Given the description of an element on the screen output the (x, y) to click on. 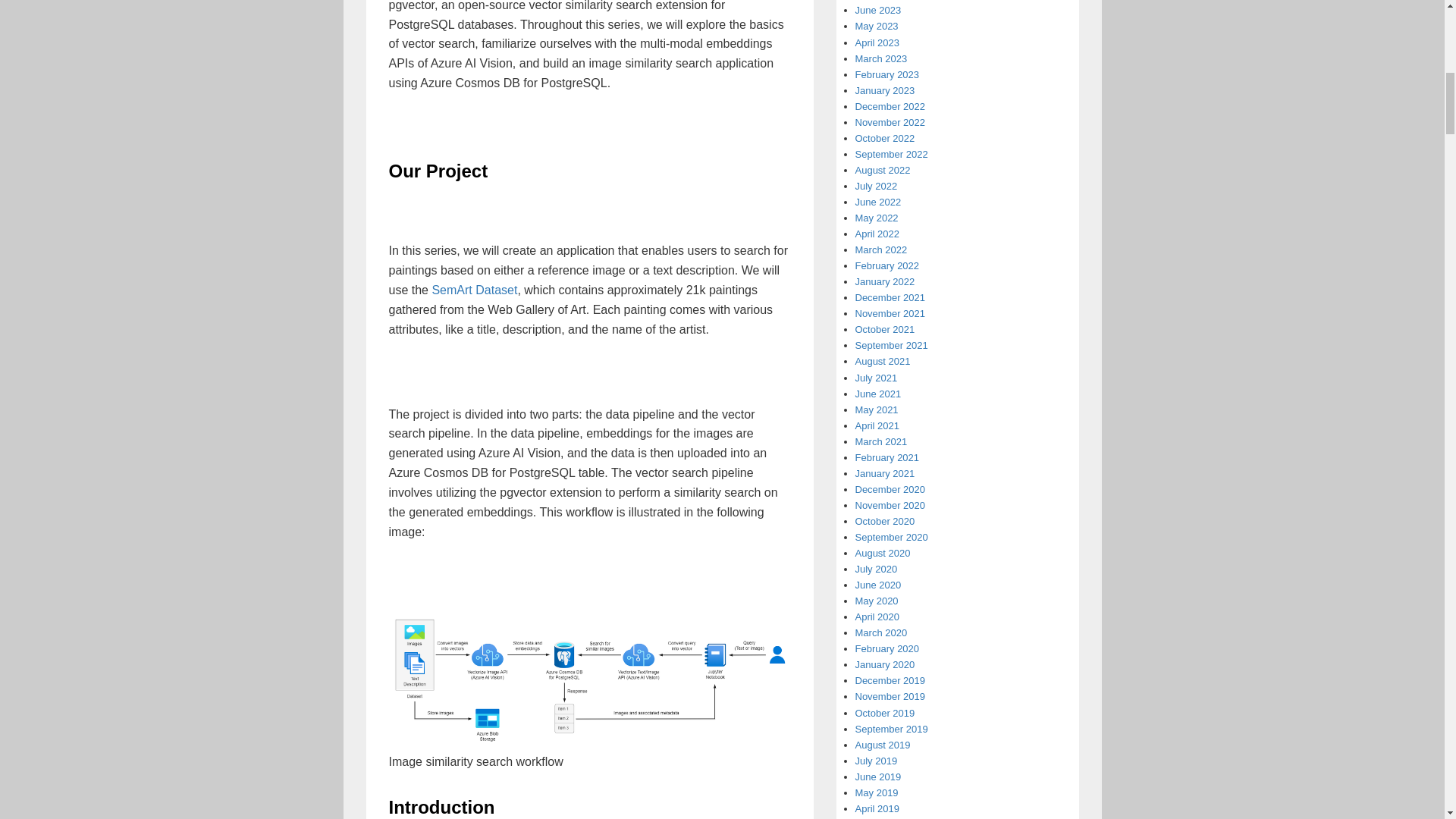
vector-search-flow.png (589, 678)
SemArt Dataset (473, 289)
